Given the description of an element on the screen output the (x, y) to click on. 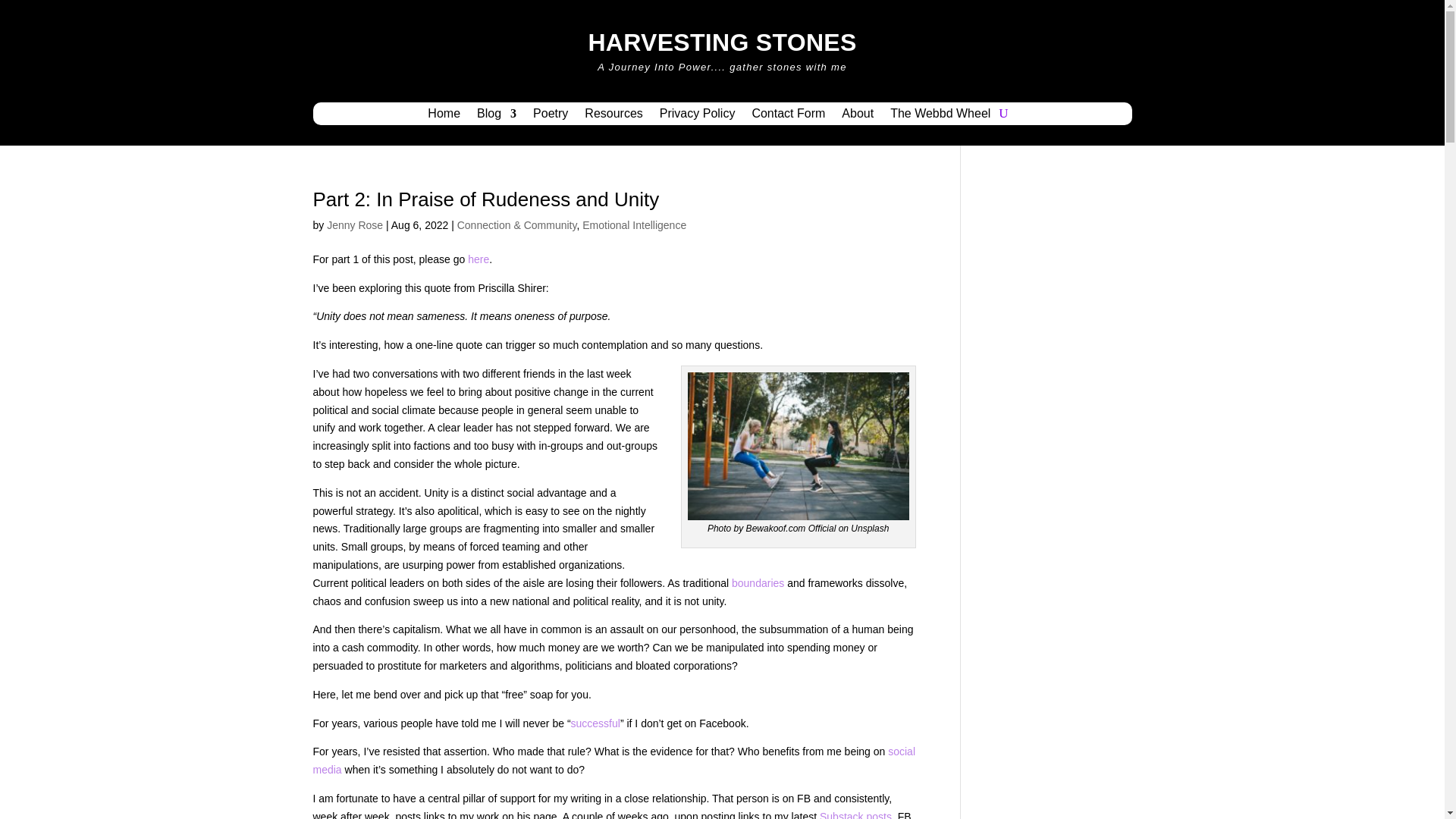
Blog (496, 116)
Privacy Policy (697, 116)
Posts by Jenny Rose (354, 224)
Jenny Rose (354, 224)
Home (444, 116)
Contact Form (788, 116)
The Webbd Wheel (939, 116)
Emotional Intelligence (633, 224)
Poetry (549, 116)
About (857, 116)
